Given the description of an element on the screen output the (x, y) to click on. 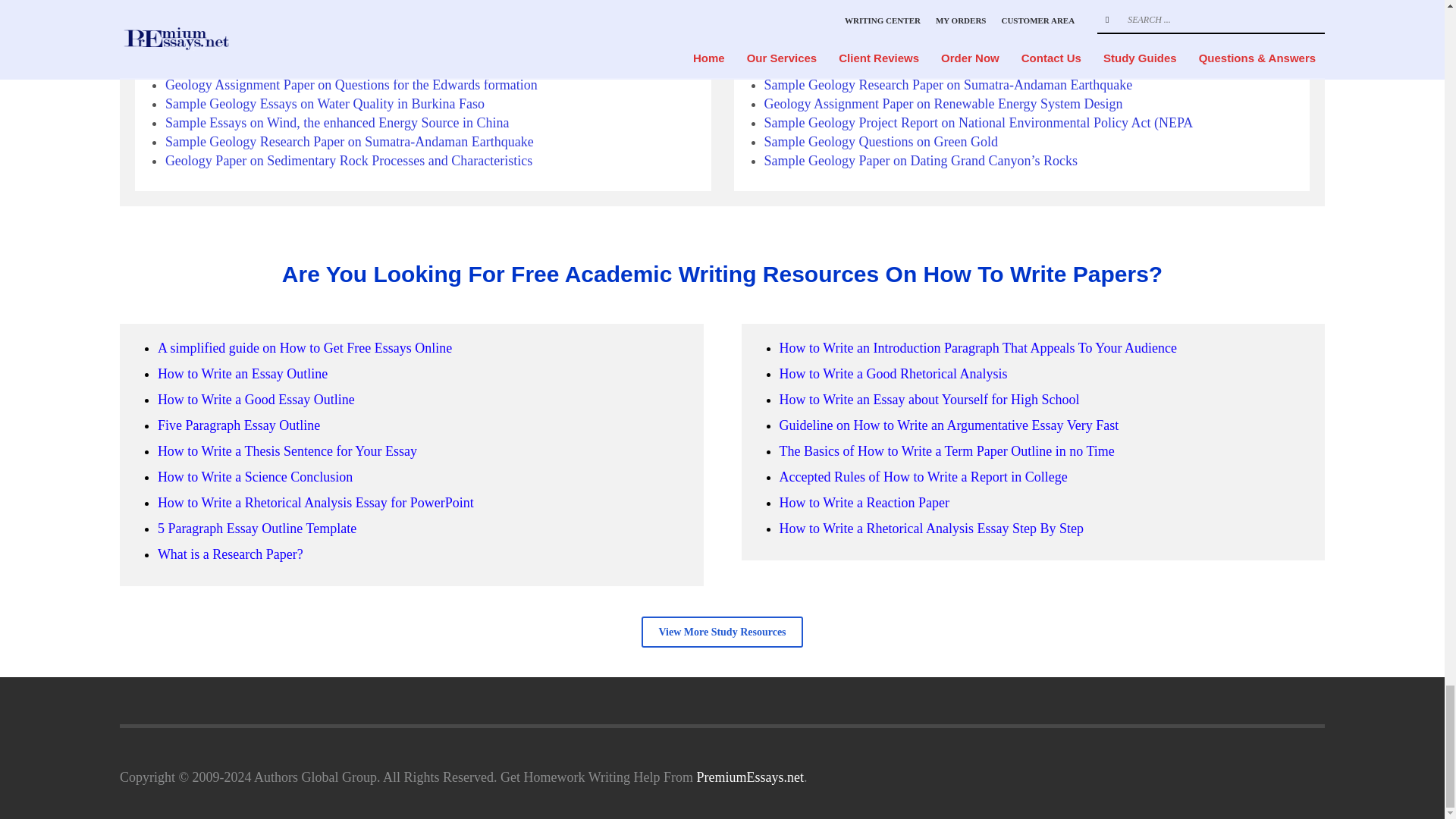
Sample Research Paper on Solar Electric Systems (301, 8)
Sample Geology Essays on Water Quality in Burkina Faso (923, 8)
Sample Geology Paper on Cannon Beach Tsunami (303, 46)
Sample Essays on Wind, the enhanced Energy Source in China (337, 122)
Sample Geology Essays on Water Quality in Burkina Faso (324, 103)
Sample Geology Research Paper on Sumatra-Andaman Earthquake (349, 141)
